Given the description of an element on the screen output the (x, y) to click on. 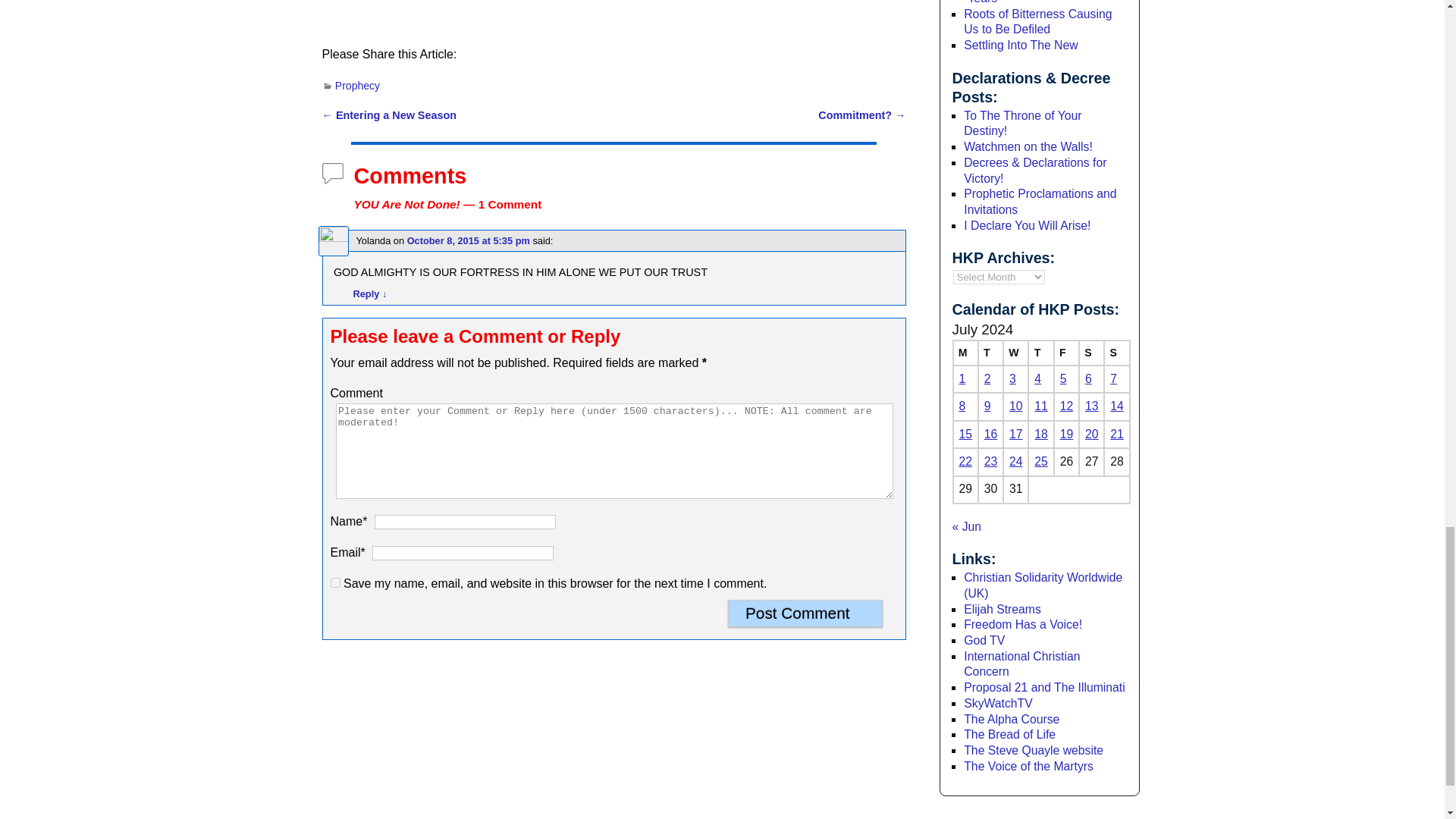
Tuesday (990, 352)
Post Comment (805, 613)
Monday (964, 352)
yes (335, 583)
Thursday (1039, 352)
Wednesday (1015, 352)
Friday (1066, 352)
Saturday (1090, 352)
